Given the description of an element on the screen output the (x, y) to click on. 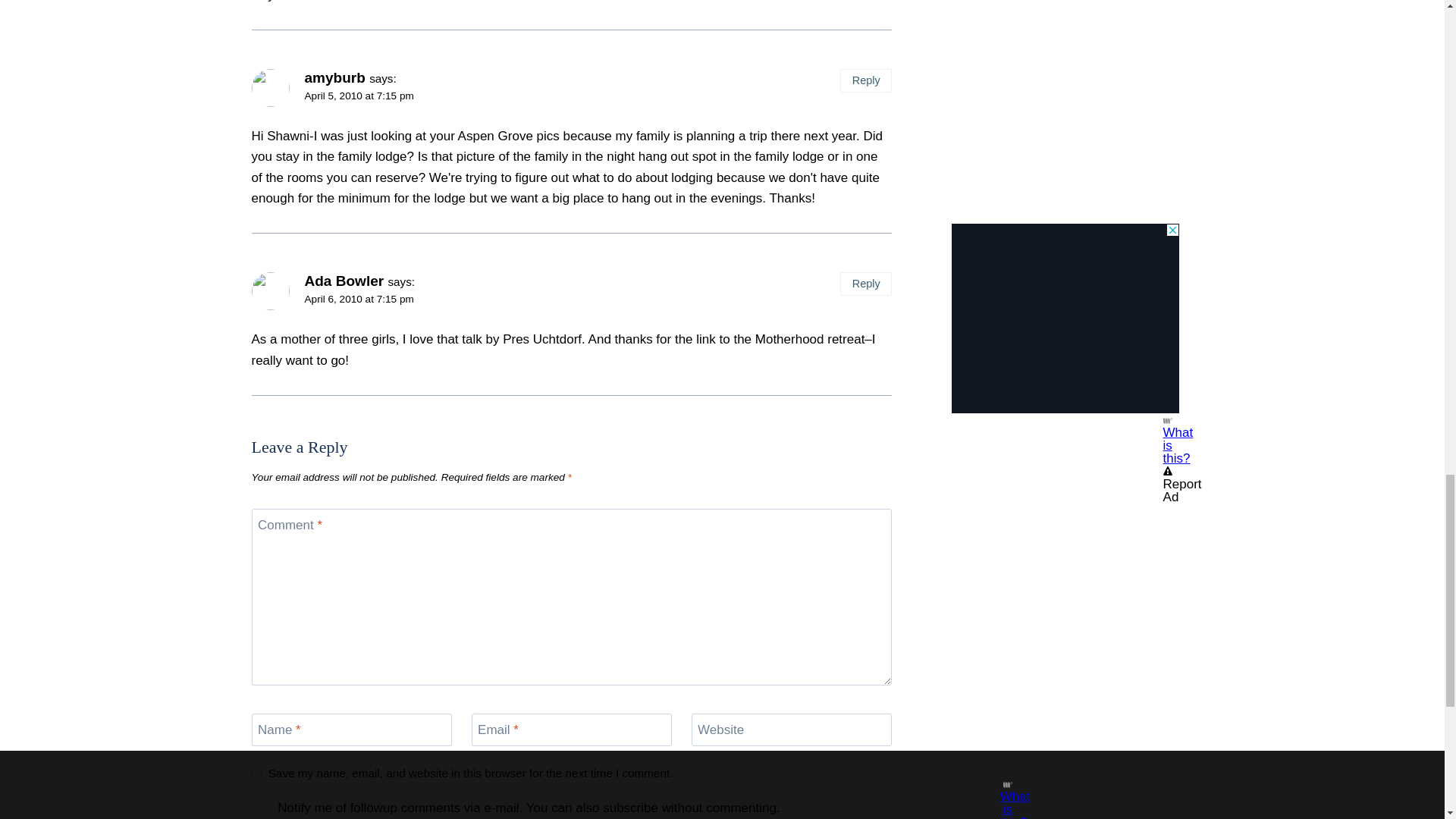
yes (263, 807)
yes (256, 773)
